Given the description of an element on the screen output the (x, y) to click on. 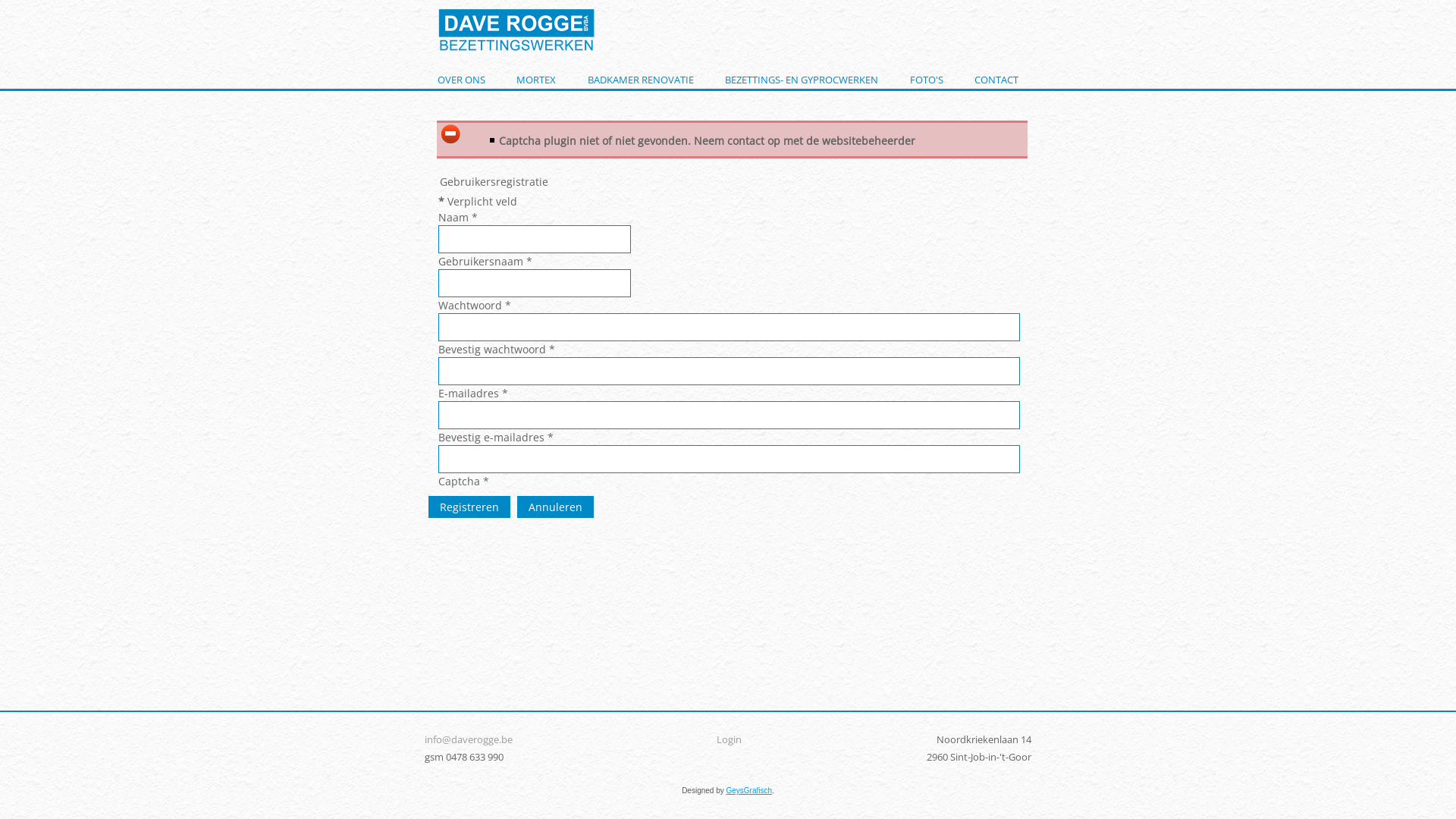
OVER ONS Element type: text (461, 79)
Login Element type: text (728, 739)
Registreren Element type: text (469, 506)
GeysGrafisch Element type: text (749, 790)
info@daverogge.be Element type: text (468, 739)
CONTACT Element type: text (996, 79)
BADKAMER RENOVATIE Element type: text (640, 79)
Annuleren Element type: text (555, 506)
BEZETTINGS- EN GYPROCWERKEN Element type: text (801, 79)
MORTEX Element type: text (535, 79)
FOTO'S Element type: text (926, 79)
